Given the description of an element on the screen output the (x, y) to click on. 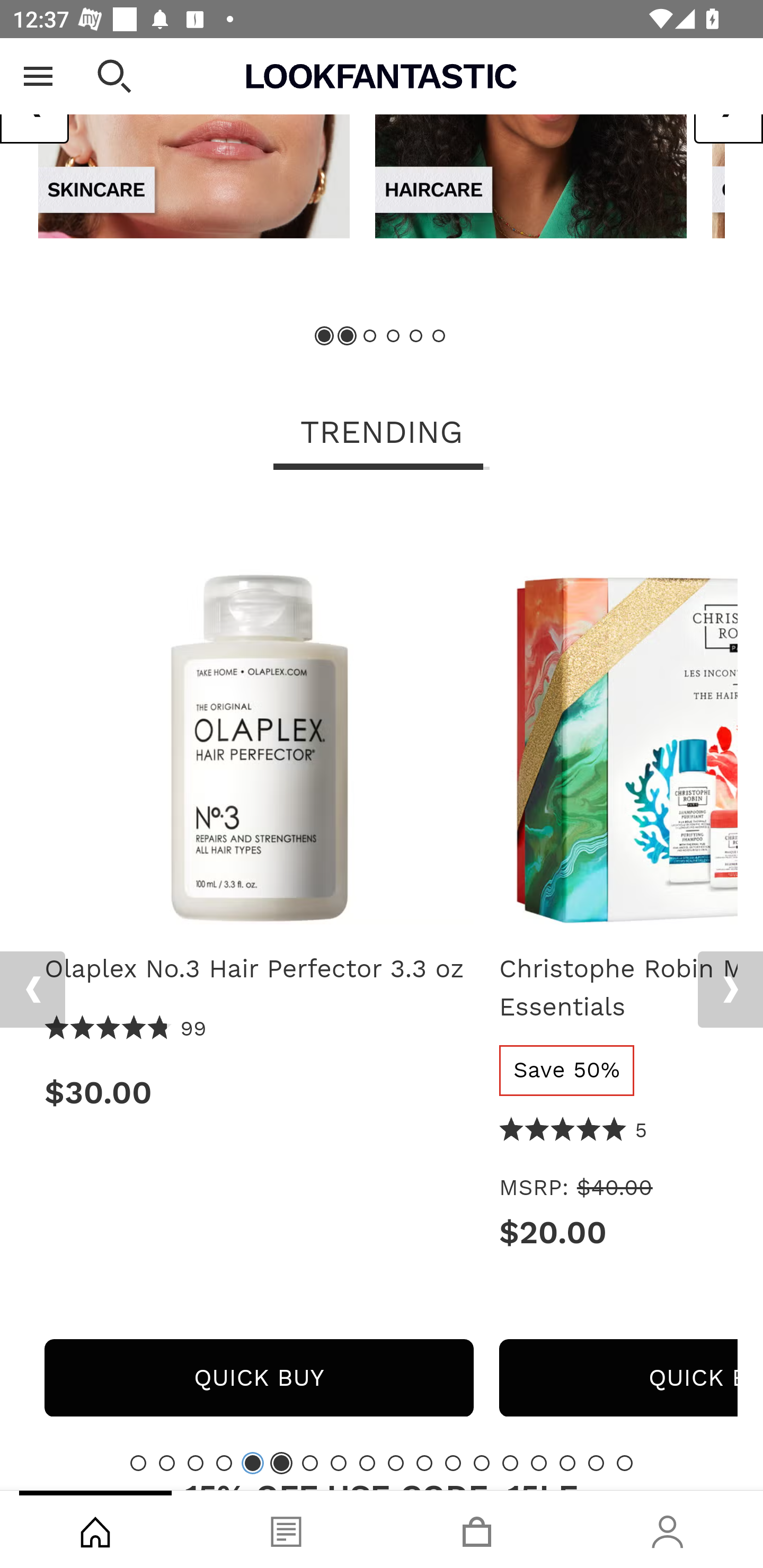
Showing Slide 1 (Current Item) (324, 336)
Showing Slide 2 (Current Item) (347, 336)
Slide 3 (369, 336)
Slide 4 (393, 336)
Slide 5 (415, 336)
Slide 6 (437, 336)
TRENDING (381, 433)
Olaplex No.3 Hair Perfector 3.3 oz (258, 715)
Christophe Robin Mini Hair Essentials (618, 715)
Olaplex No.3 Hair Perfector 3.3 oz (258, 968)
Christophe Robin Mini Hair Essentials (618, 987)
Previous (32, 989)
Next (730, 989)
4.81 Stars 99 Reviews (126, 1028)
Save 50%, read more (567, 1070)
Price: $30.00 (258, 1091)
5.0 Stars 5 Reviews (573, 1130)
QUICK BUY OLAPLEX NO.3 HAIR PERFECTOR 3.3 OZ (258, 1377)
Slide 1 (138, 1462)
Slide 2 (166, 1462)
Slide 3 (195, 1462)
Slide 4 (223, 1462)
Showing Slide 5 (Current Item) (252, 1462)
Showing Slide 6 (Current Item) (281, 1462)
Slide 7 (310, 1462)
Slide 8 (338, 1462)
Slide 9 (367, 1462)
Slide 10 (395, 1462)
Slide 11 (424, 1462)
Slide 12 (452, 1462)
Slide 13 (481, 1462)
Slide 14 (510, 1462)
Slide 15 (539, 1462)
Slide 16 (567, 1462)
Slide 17 (596, 1462)
Slide 18 (624, 1462)
Shop, tab, 1 of 4 (95, 1529)
Blog, tab, 2 of 4 (285, 1529)
Basket, tab, 3 of 4 (476, 1529)
Account, tab, 4 of 4 (667, 1529)
